Given the description of an element on the screen output the (x, y) to click on. 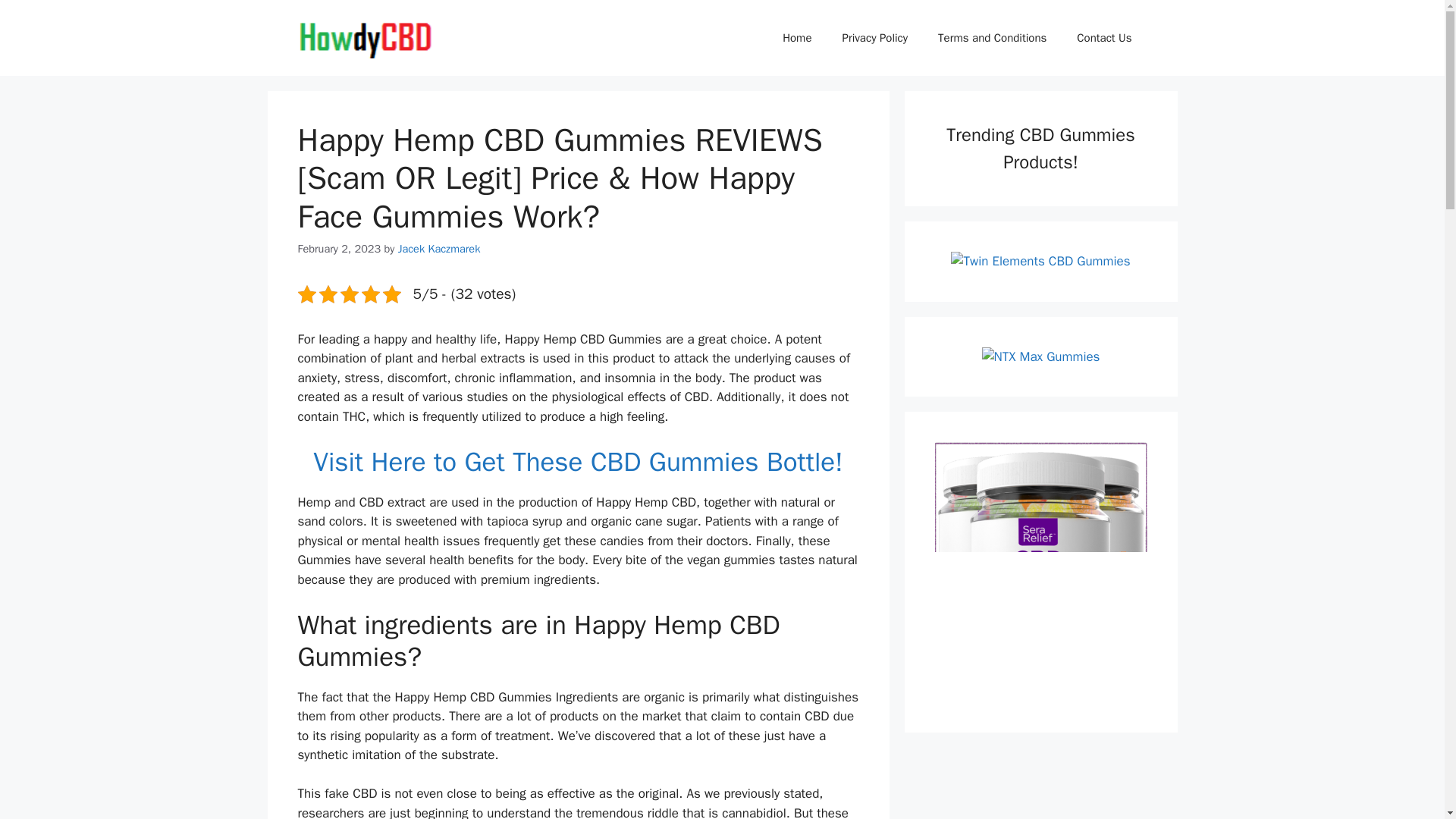
Home (797, 37)
Privacy Policy (875, 37)
Contact Us (1104, 37)
View all posts by Jacek Kaczmarek (438, 248)
Visit Here to Get These CBD Gummies Bottle! (578, 461)
Jacek Kaczmarek (438, 248)
Terms and Conditions (992, 37)
